Given the description of an element on the screen output the (x, y) to click on. 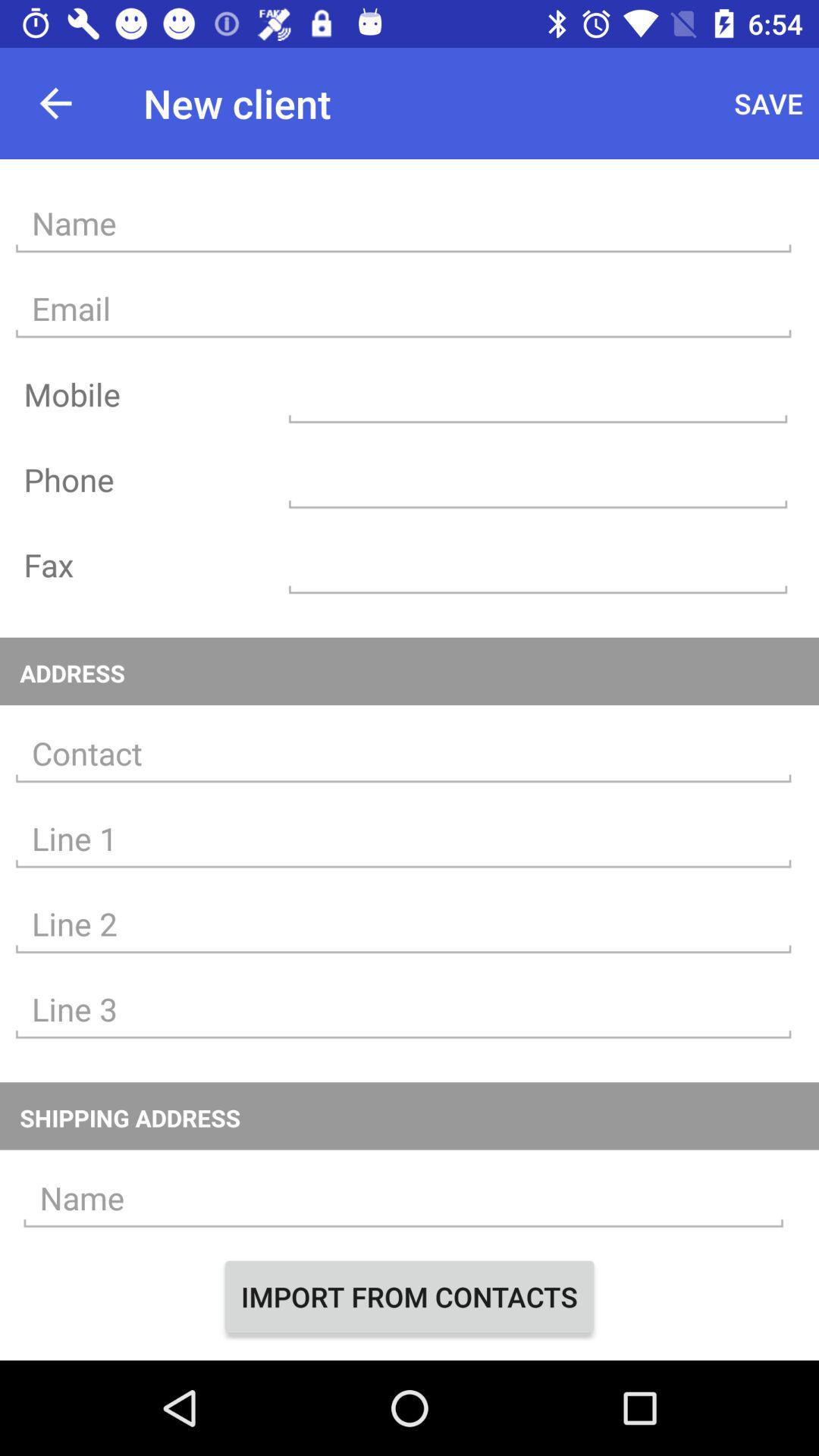
provide an address for the contact (403, 753)
